Given the description of an element on the screen output the (x, y) to click on. 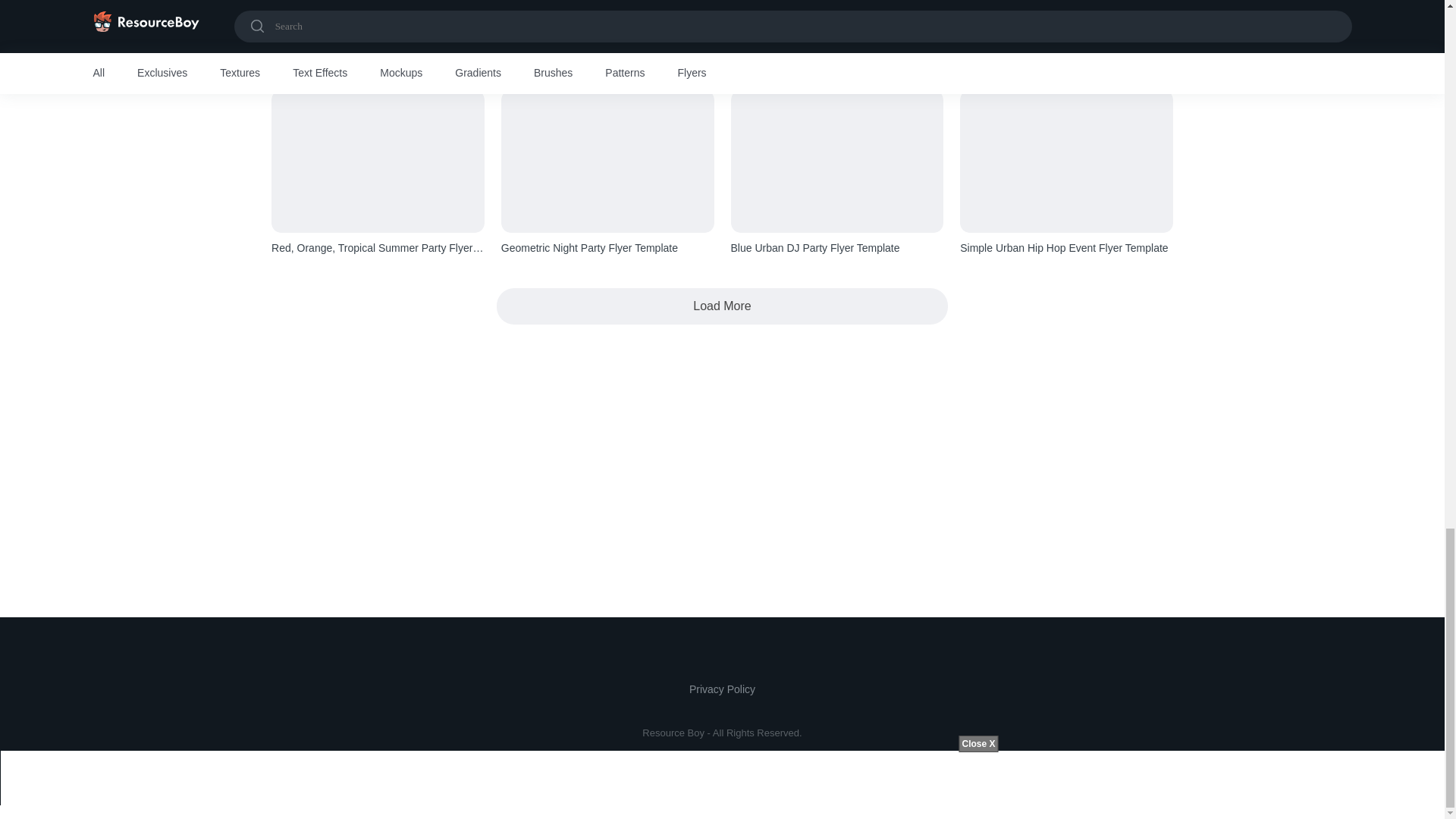
3rd party ad content (721, 449)
